Given the description of an element on the screen output the (x, y) to click on. 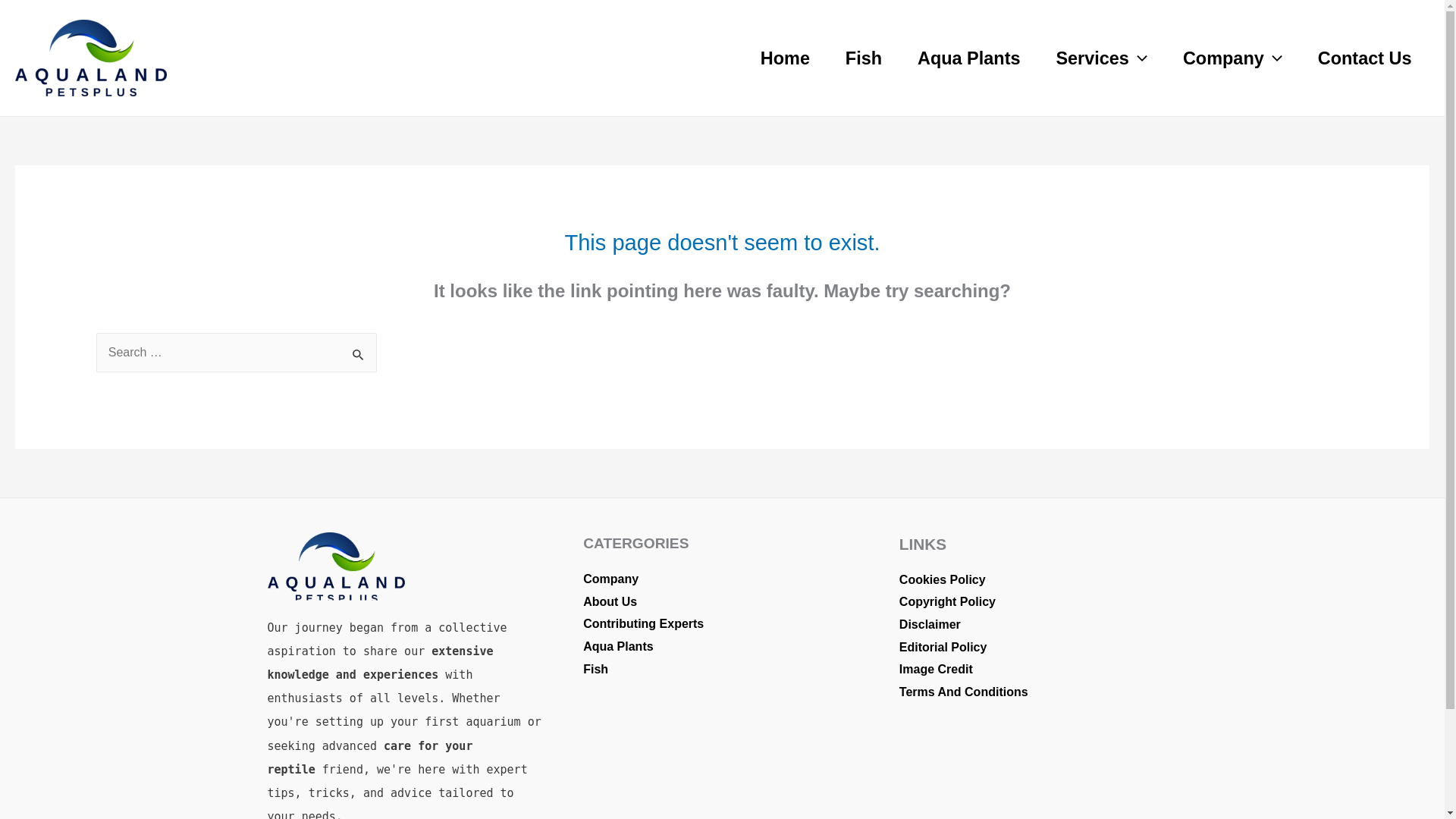
Company (1232, 58)
Aqua Plants (968, 58)
Services (1102, 58)
Fish (863, 58)
Contact Us (1364, 58)
Home (784, 58)
